Given the description of an element on the screen output the (x, y) to click on. 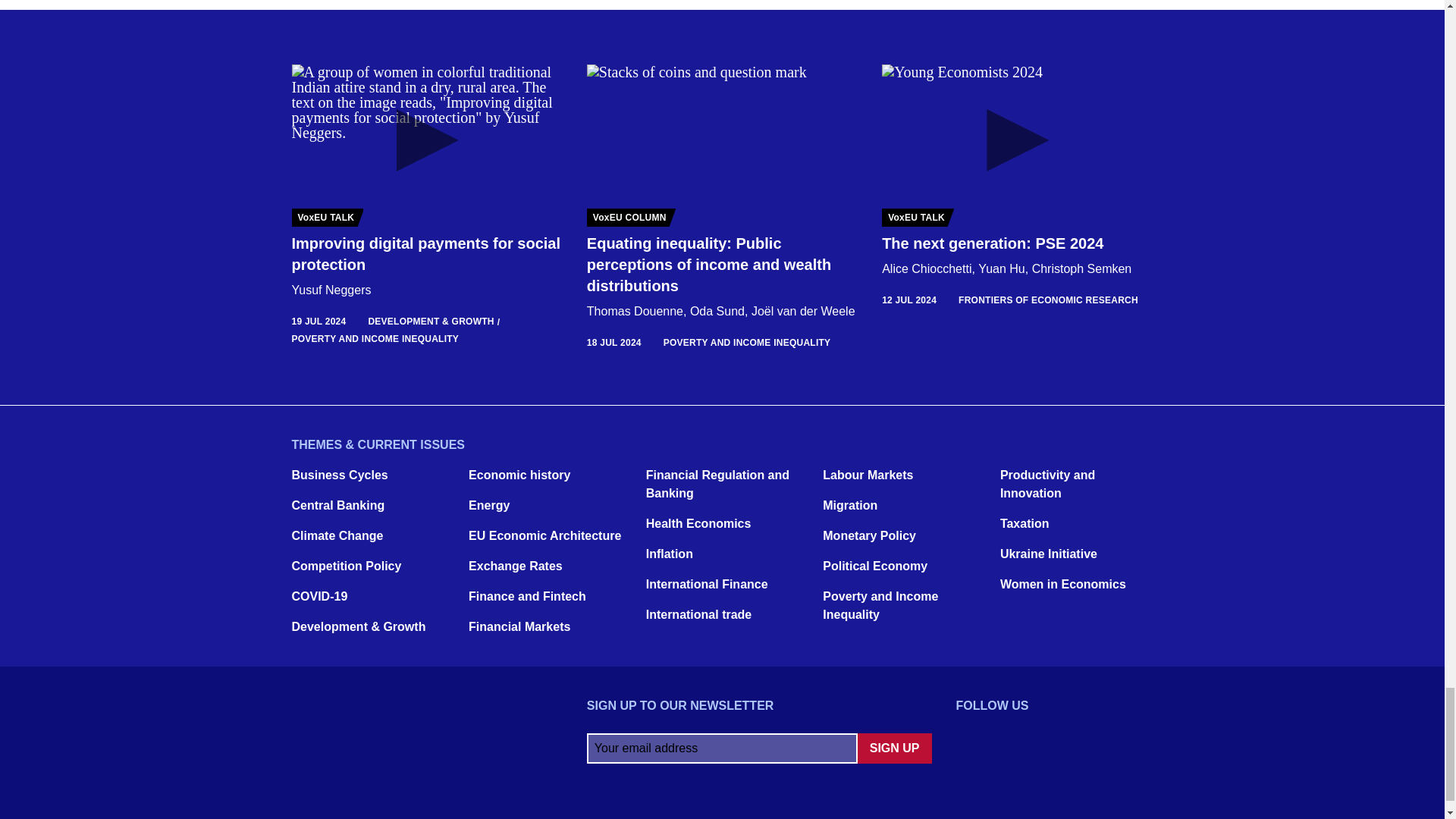
sign up (894, 748)
